Given the description of an element on the screen output the (x, y) to click on. 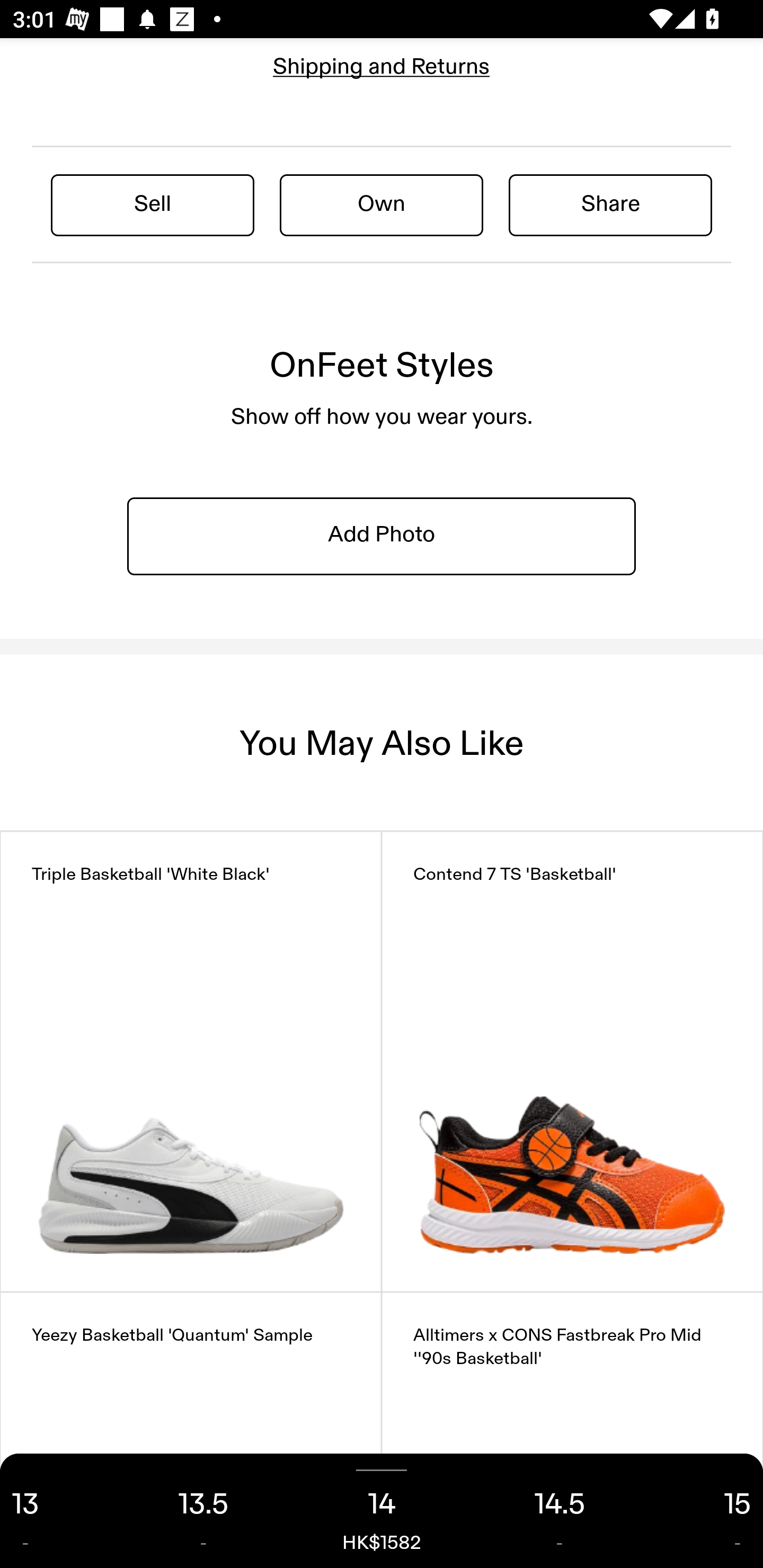
Shipping and Returns (381, 66)
Sell (152, 204)
Own (381, 204)
Share (609, 204)
Add Photo (381, 535)
Triple Basketball 'White Black' (190, 1061)
Contend 7 TS 'Basketball' (572, 1061)
Yeezy Basketball 'Quantum' Sample (190, 1430)
13 - (57, 1510)
13.5 - (203, 1510)
14 HK$1582 (381, 1510)
14.5 - (559, 1510)
15 - (705, 1510)
